Given the description of an element on the screen output the (x, y) to click on. 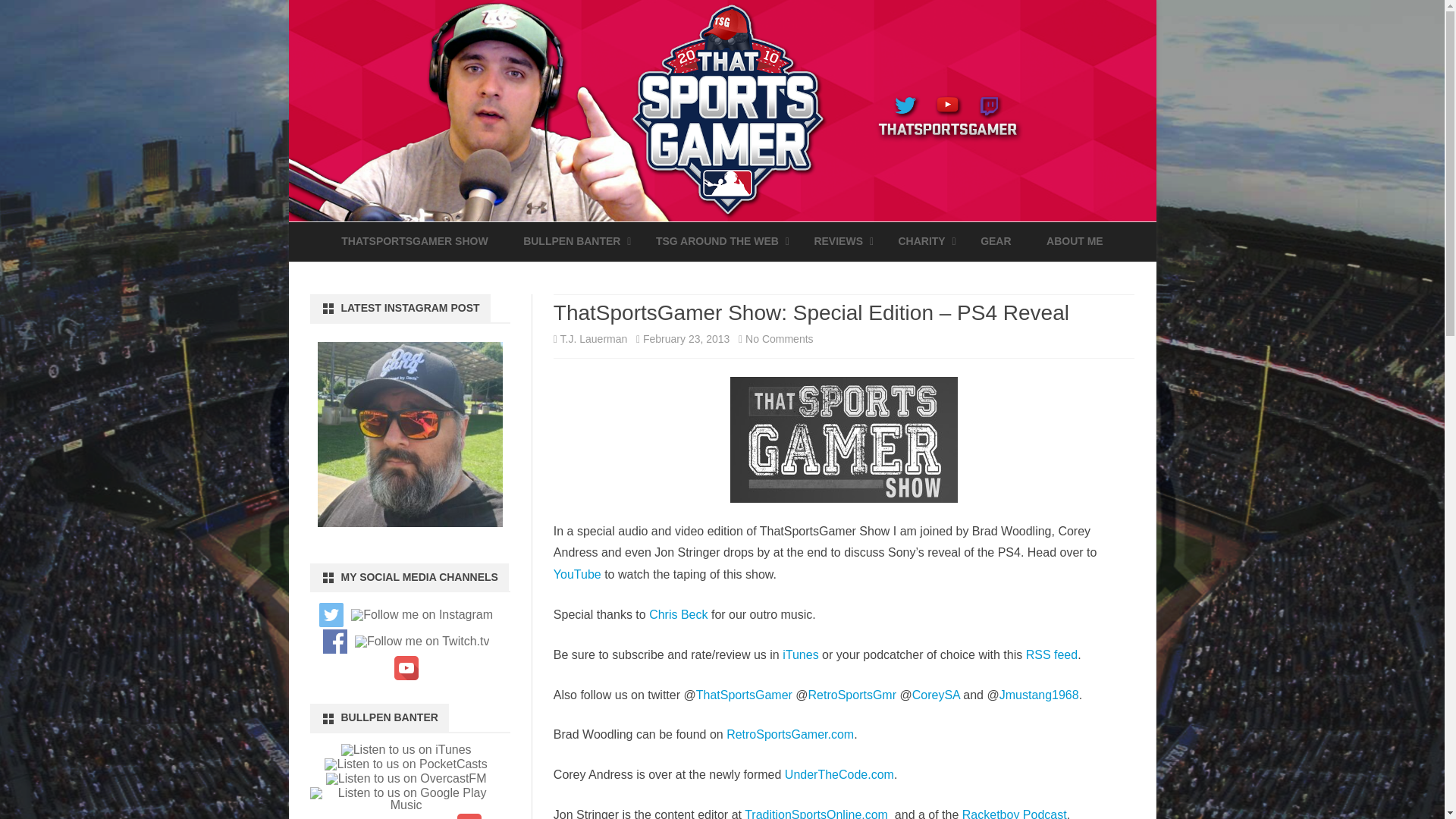
PODCAST VERSION (598, 276)
Follow me on Facebook (335, 641)
TSG AROUND THE WEB (717, 241)
Follow me on Twitch.tv (422, 641)
Follow me on Instagram (421, 614)
BULLPEN BANTER (571, 241)
DEMO IMPRESSIONS (889, 276)
Follow me on Twitter (330, 614)
REVIEWS (838, 241)
THATSPORTSGAMER SHOW (413, 241)
YOUTUBE CHANNEL (732, 276)
